Given the description of an element on the screen output the (x, y) to click on. 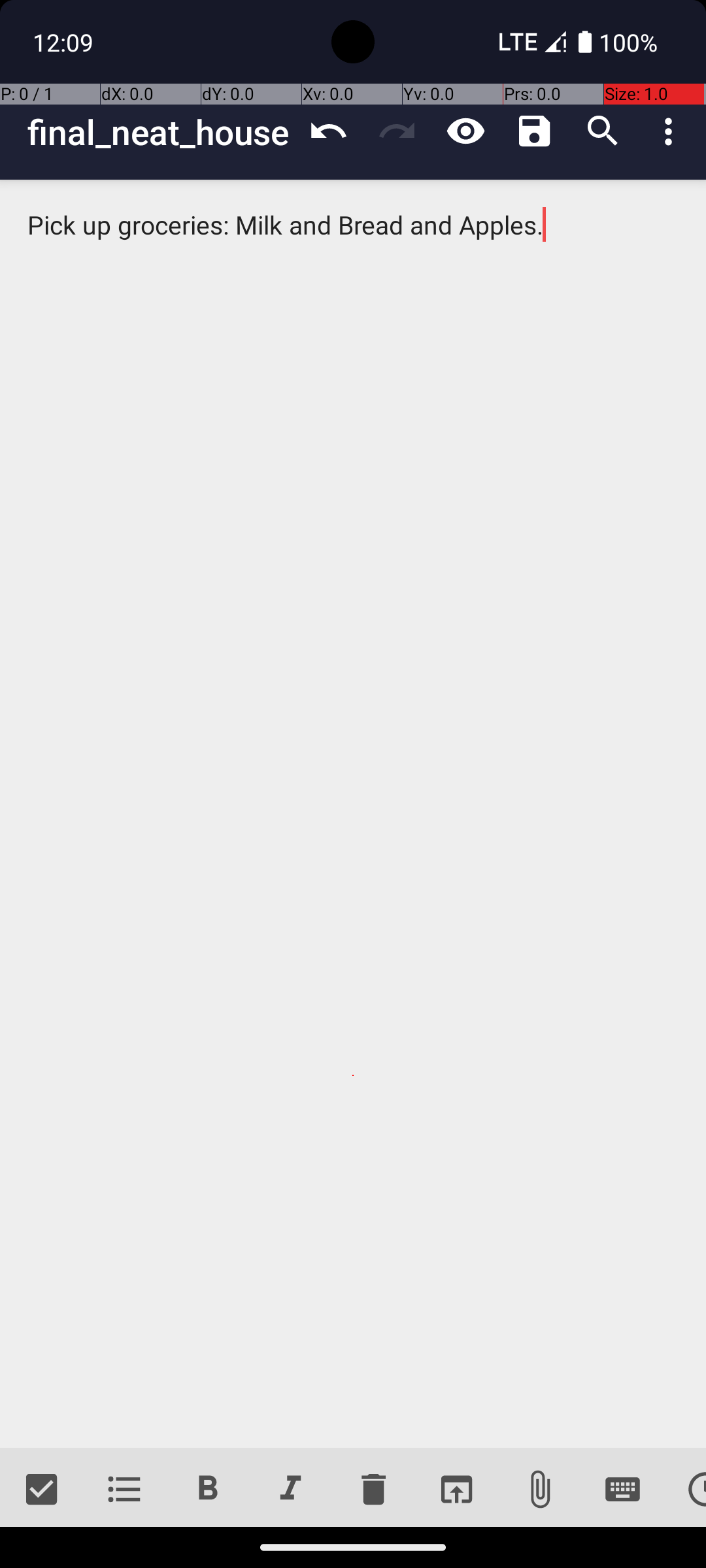
final_neat_house Element type: android.widget.TextView (160, 131)
Pick up groceries: Milk and Bread and Apples. Element type: android.widget.EditText (353, 813)
12:09 Element type: android.widget.TextView (64, 41)
